Given the description of an element on the screen output the (x, y) to click on. 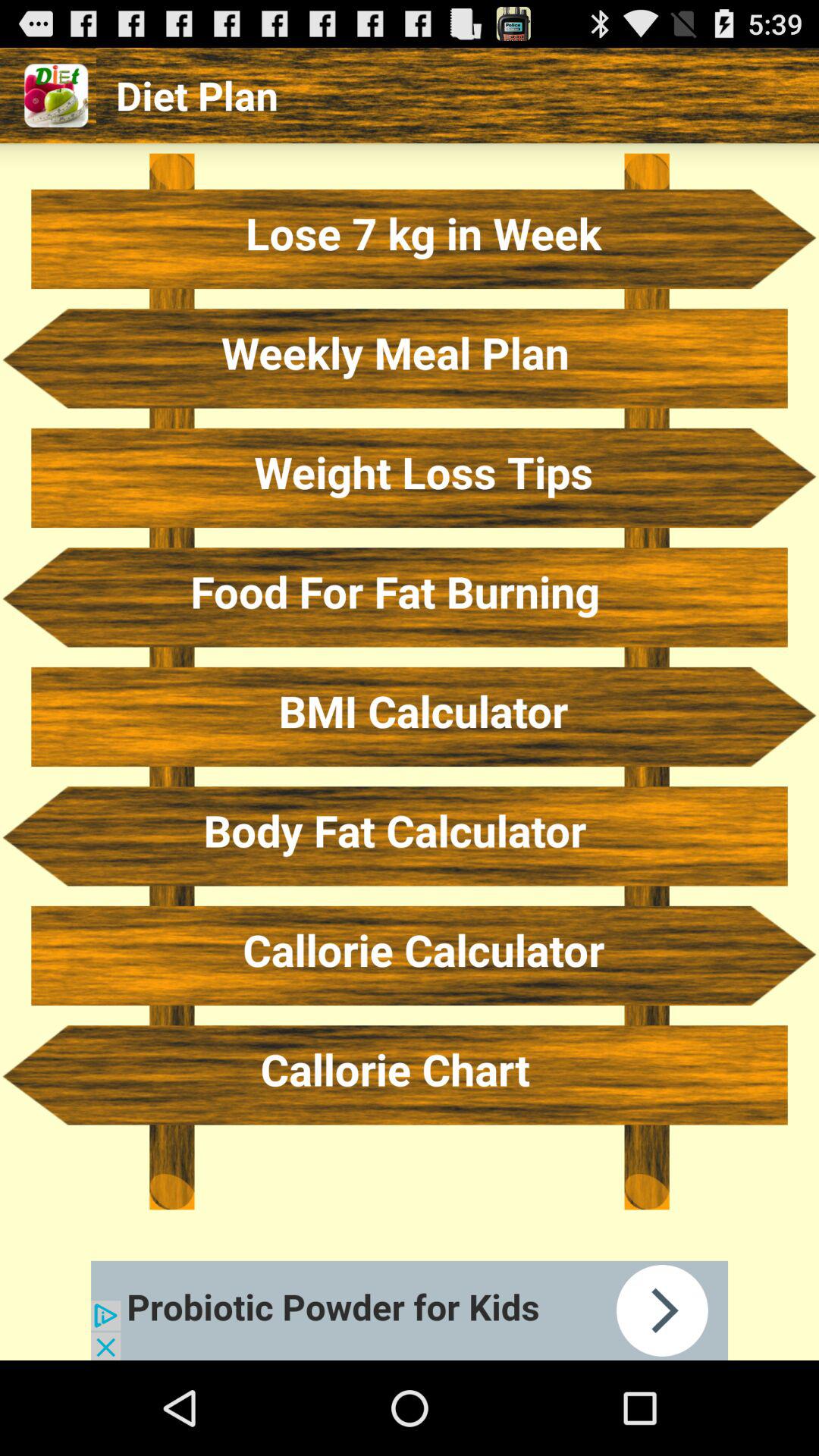
go to next user (409, 1310)
